Given the description of an element on the screen output the (x, y) to click on. 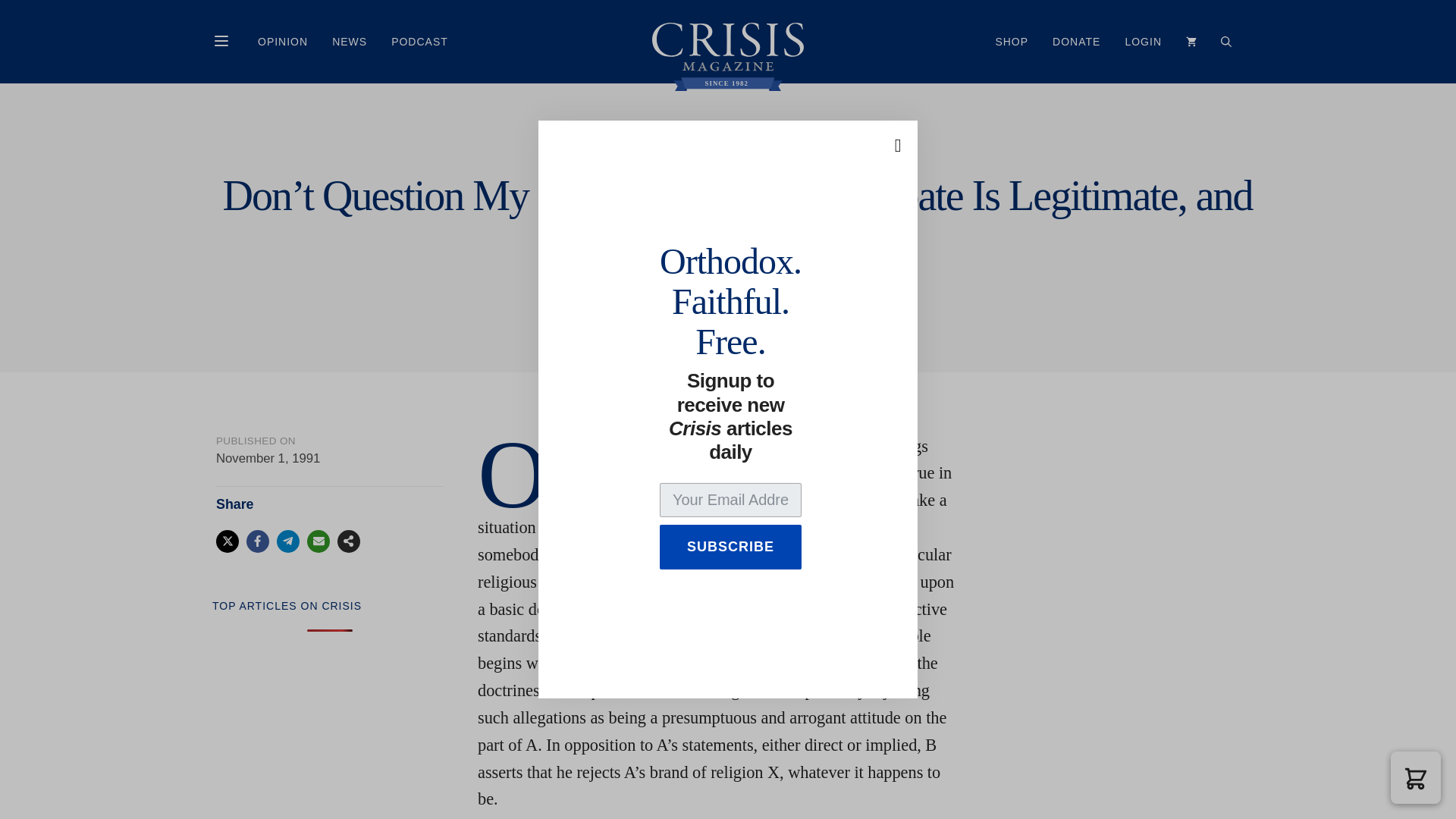
NEWS (349, 41)
LOGIN (1142, 41)
PODCAST (419, 41)
DONATE (1076, 41)
SHOP (1011, 41)
OPINION (283, 41)
F.F. Centore (719, 289)
